Given the description of an element on the screen output the (x, y) to click on. 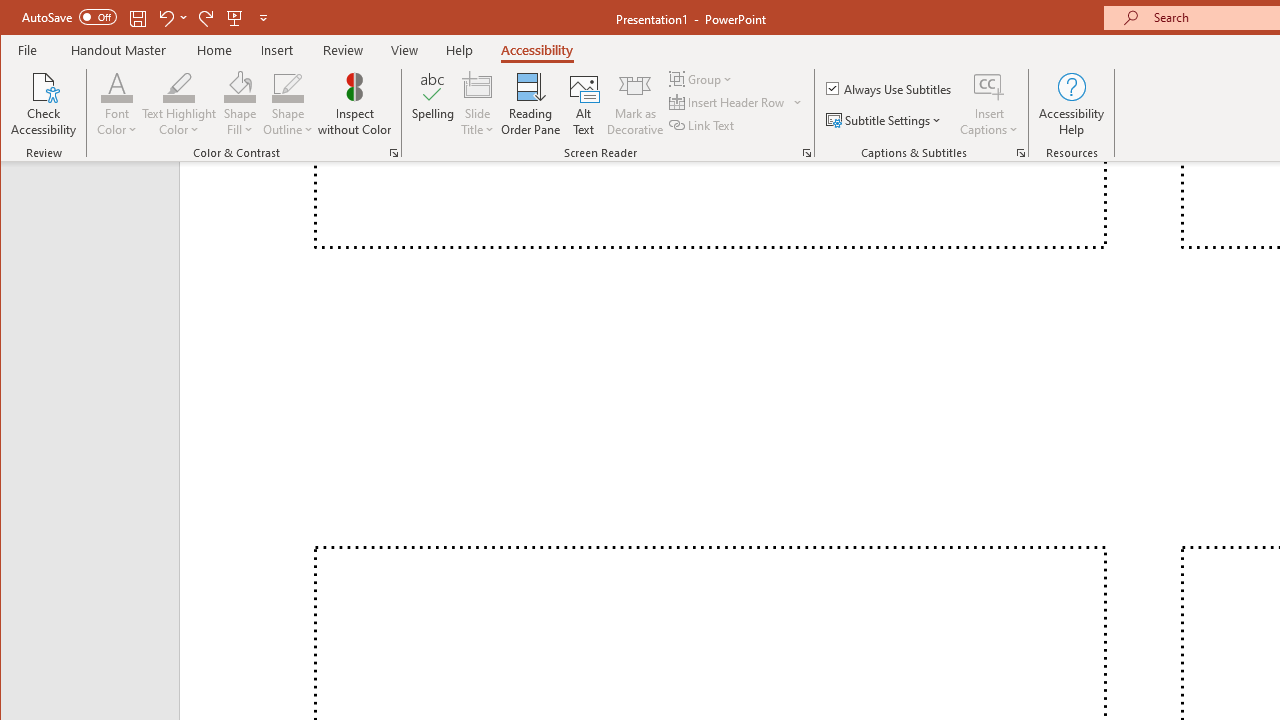
Slide Title (477, 104)
Slide Title (477, 86)
Insert Captions (989, 86)
Link Text (703, 124)
Subtitle Settings (885, 119)
Accessibility Help (1071, 104)
